Given the description of an element on the screen output the (x, y) to click on. 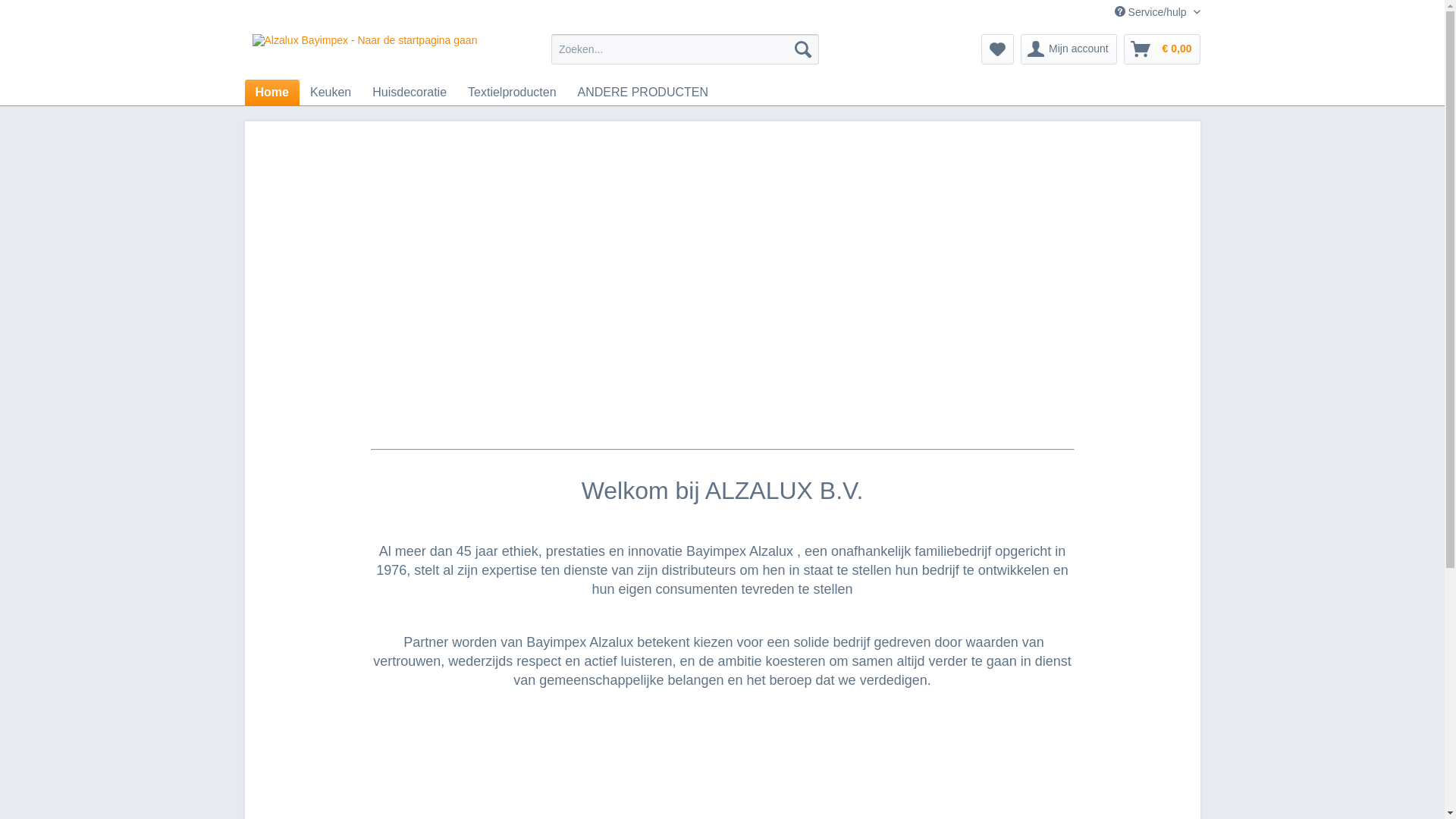
Huisdecoratie Element type: text (409, 92)
Textielproducten Element type: text (512, 92)
Alzalux Bayimpex - Naar de startpagina gaan Element type: hover (363, 53)
Verlanglijstje Element type: hover (997, 49)
Home Element type: text (271, 92)
Keuken Element type: text (330, 92)
Mijn account Element type: text (1068, 49)
ANDERE PRODUCTEN Element type: text (642, 92)
